Given the description of an element on the screen output the (x, y) to click on. 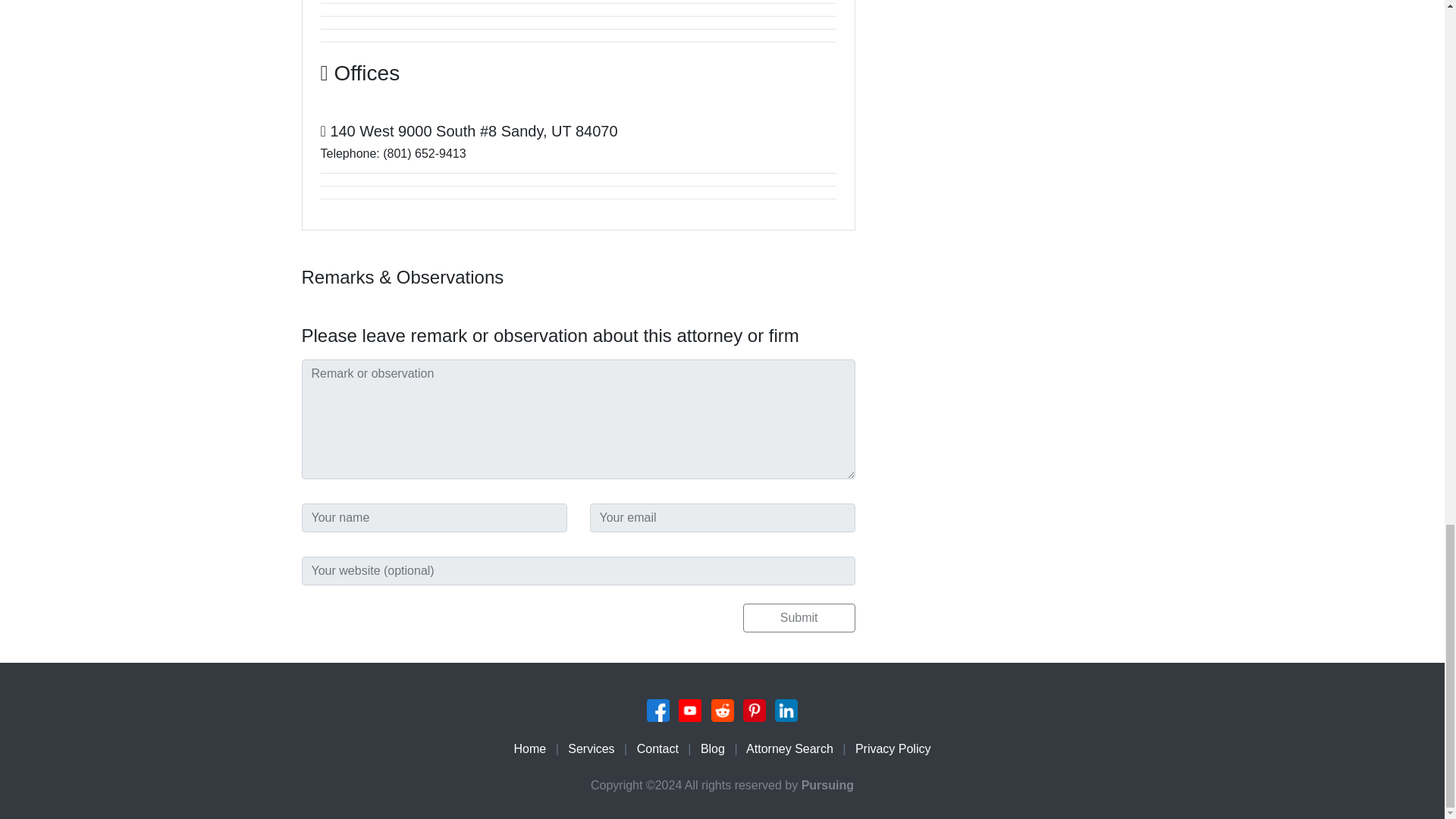
Blog (712, 748)
Submit (799, 617)
Services (590, 748)
Home (530, 748)
Attorney Search (788, 748)
Contact (657, 748)
Privacy Policy (893, 748)
Submit (799, 617)
